Given the description of an element on the screen output the (x, y) to click on. 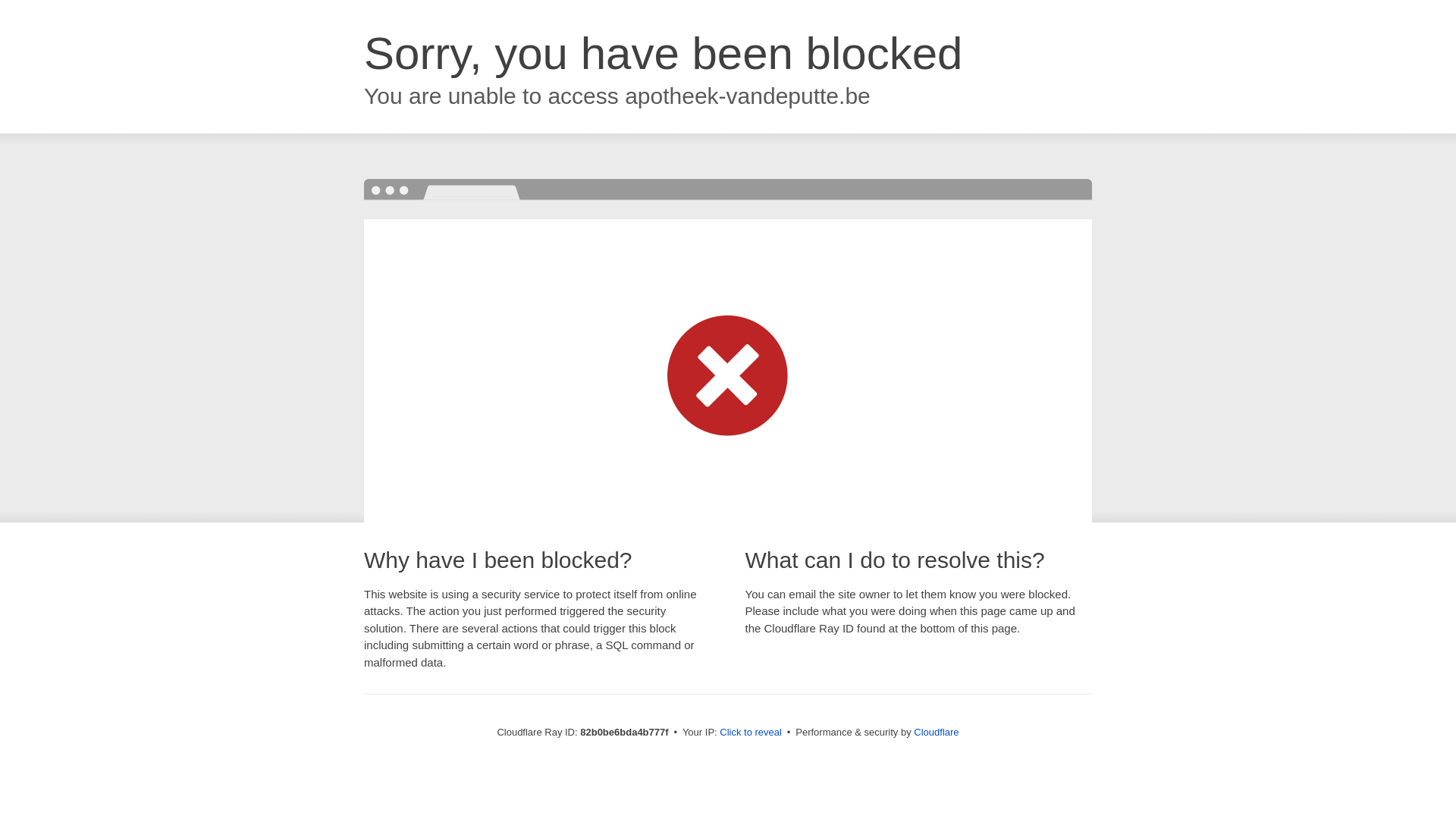
Click to reveal Element type: text (750, 732)
Cloudflare Element type: text (935, 731)
